Given the description of an element on the screen output the (x, y) to click on. 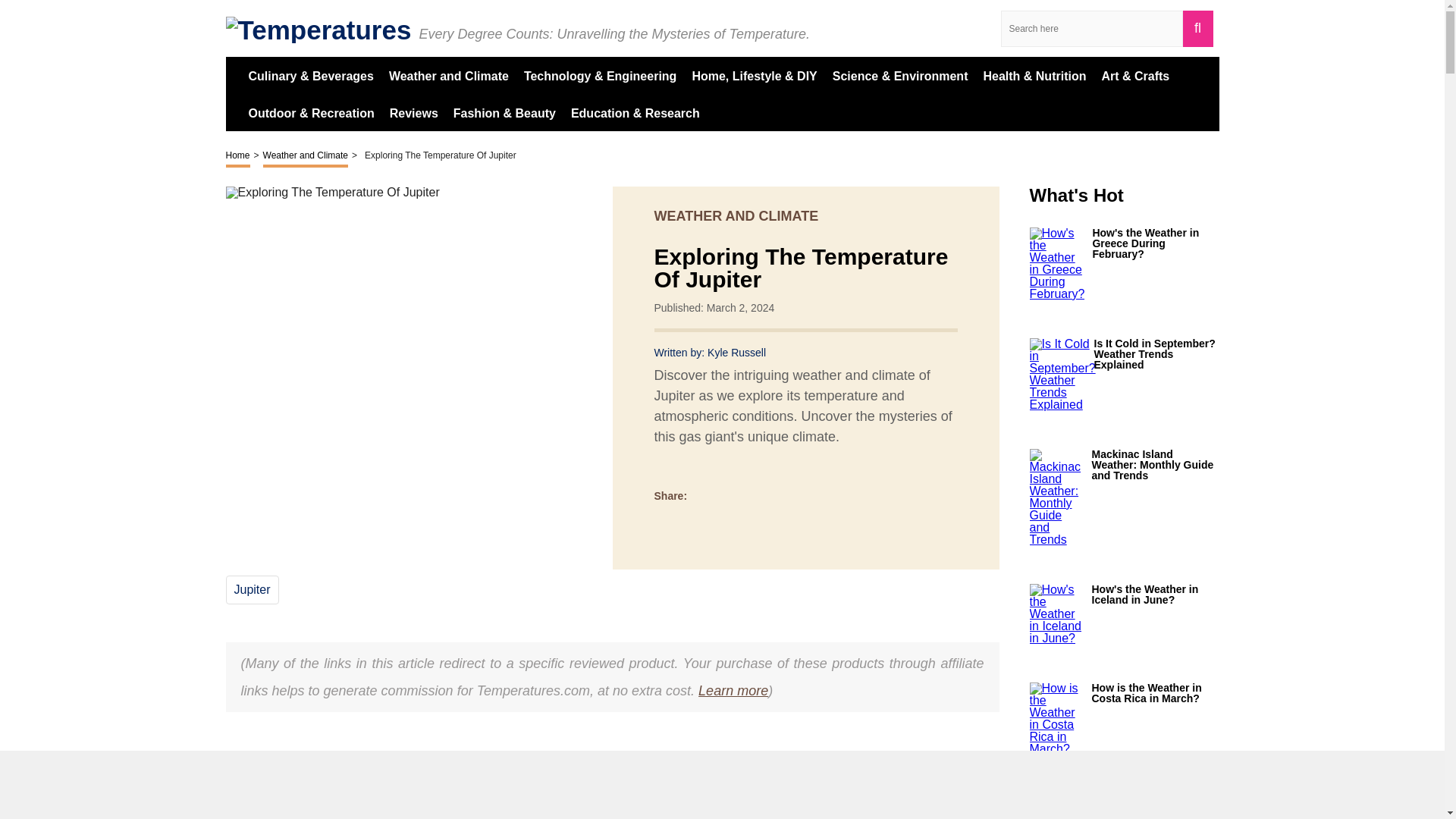
Learn more (733, 690)
Home (237, 156)
Reviews (414, 112)
Jupiter (250, 589)
Weather and Climate (448, 74)
Weather and Climate (306, 156)
Kyle Russell (736, 352)
